Given the description of an element on the screen output the (x, y) to click on. 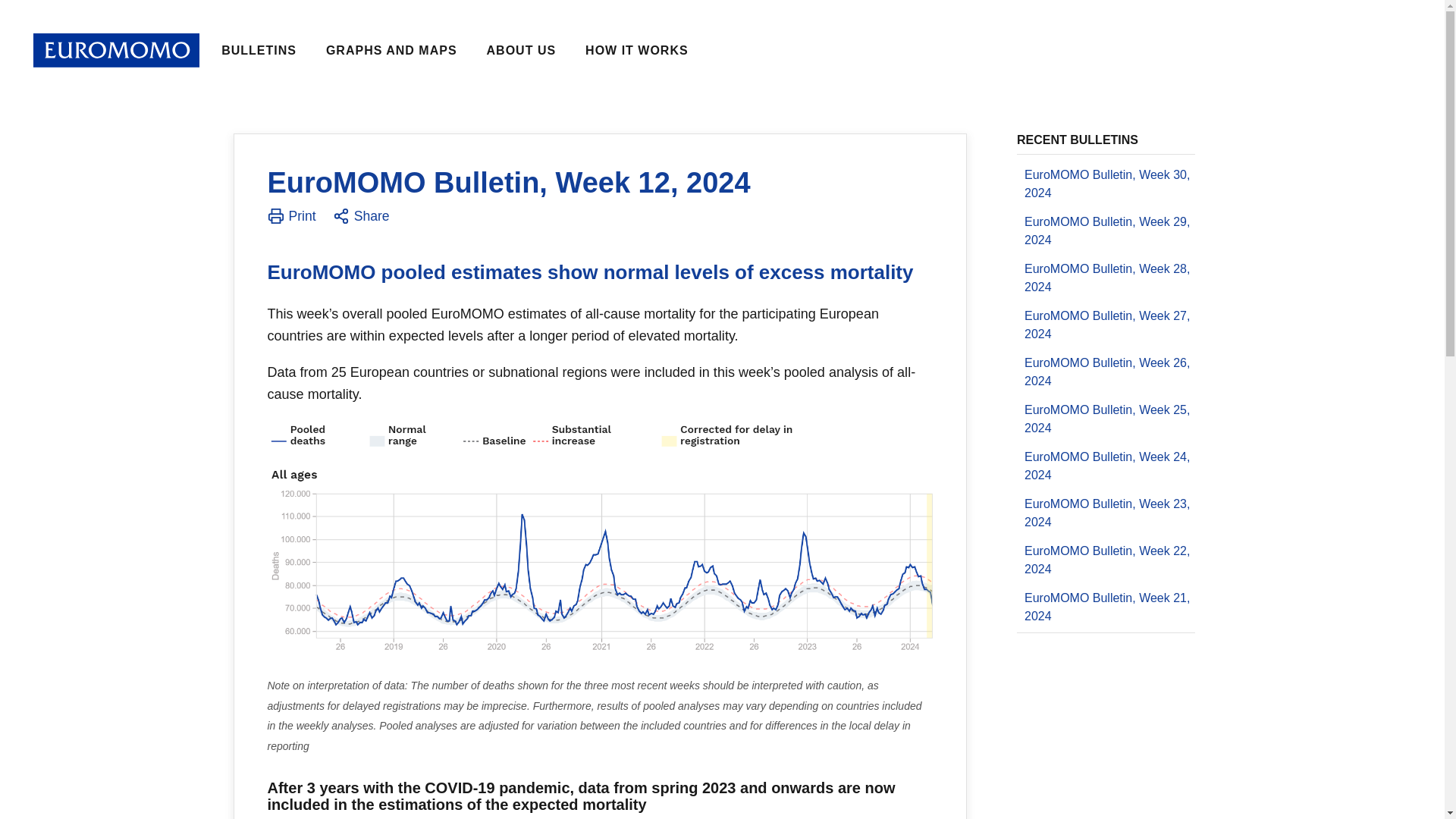
Share (361, 218)
EuroMOMO Bulletin, Week 23, 2024 (1105, 513)
EuroMOMO Bulletin, Week 24, 2024 (1105, 466)
ABOUT US (521, 49)
EuroMOMO Bulletin, Week 29, 2024 (1105, 231)
EuroMOMO Bulletin, Week 26, 2024 (1105, 371)
Print (290, 218)
EuroMOMO Bulletin, Week 27, 2024 (1105, 325)
EuroMOMO Bulletin, Week 30, 2024 (1105, 184)
EuroMOMO Bulletin, Week 28, 2024 (1105, 278)
EuroMOMO Bulletin, Week 25, 2024 (1105, 419)
BULLETINS (259, 49)
GRAPHS AND MAPS (391, 49)
HOW IT WORKS (636, 49)
EuroMOMO Bulletin, Week 21, 2024 (1105, 607)
